Given the description of an element on the screen output the (x, y) to click on. 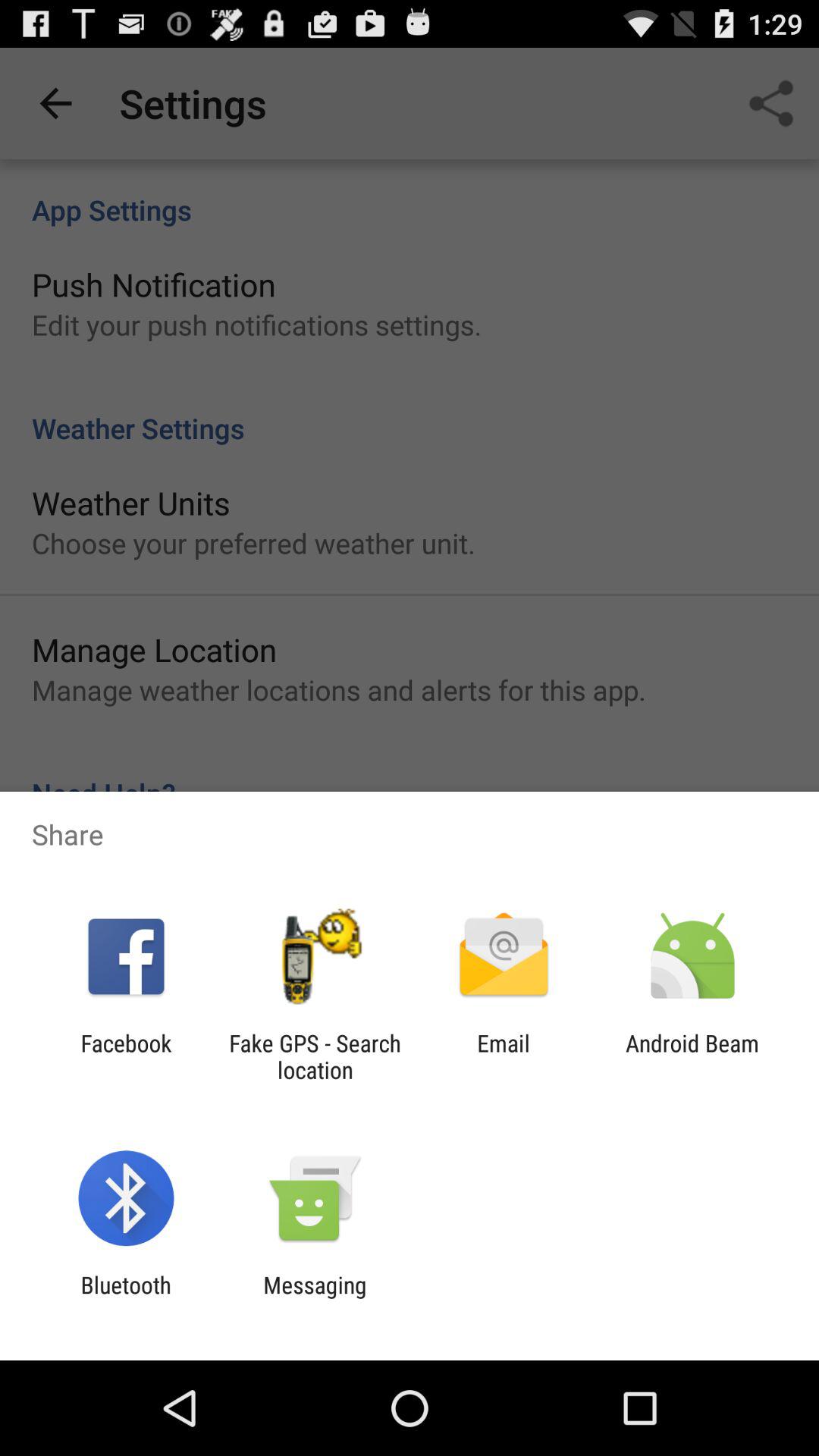
press the icon to the right of email icon (692, 1056)
